Given the description of an element on the screen output the (x, y) to click on. 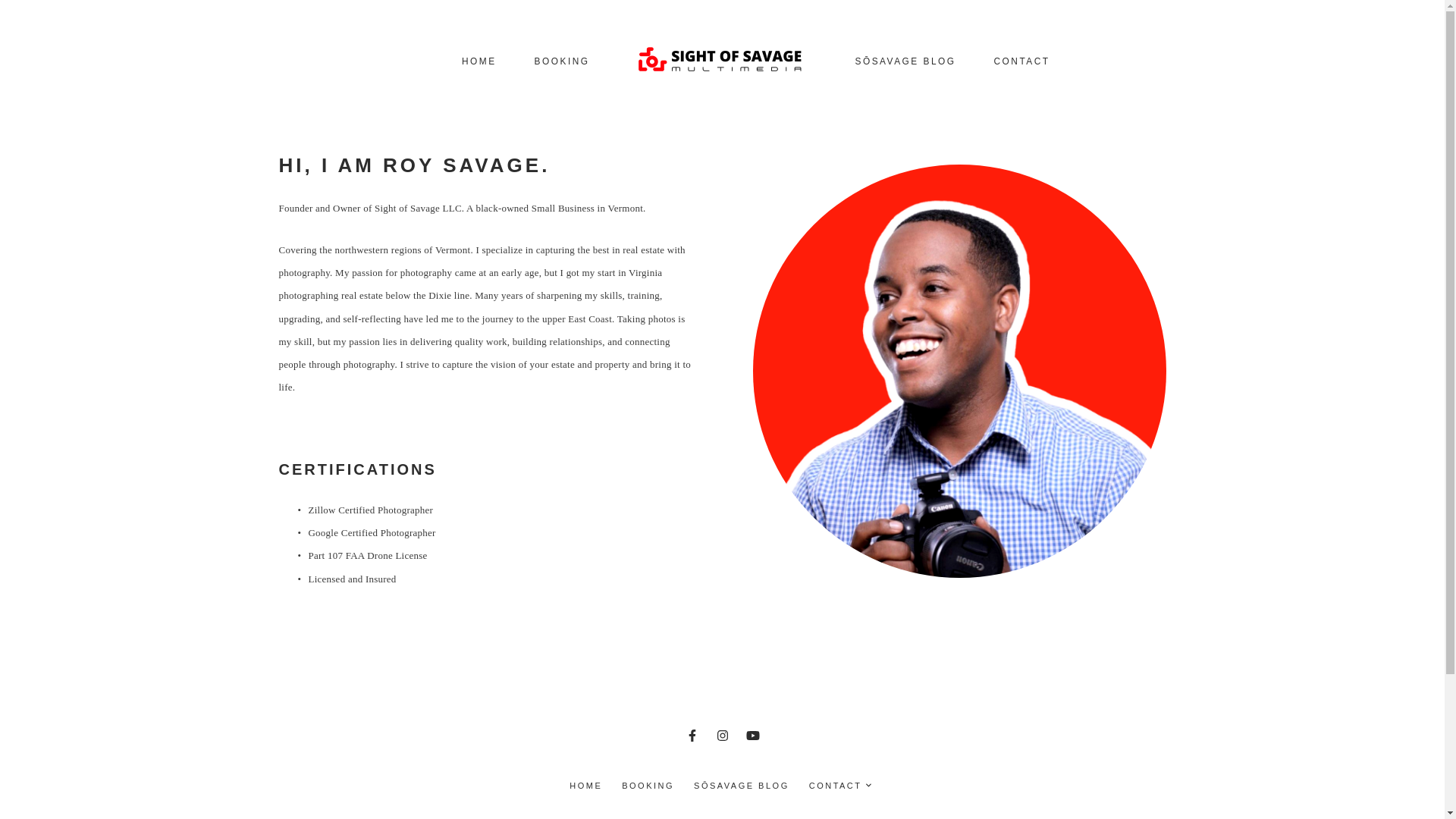
BOOKING (647, 786)
CONTACT (1021, 61)
BOOKING (561, 61)
HOME (585, 786)
HOME (478, 61)
CONTACT (840, 786)
